Given the description of an element on the screen output the (x, y) to click on. 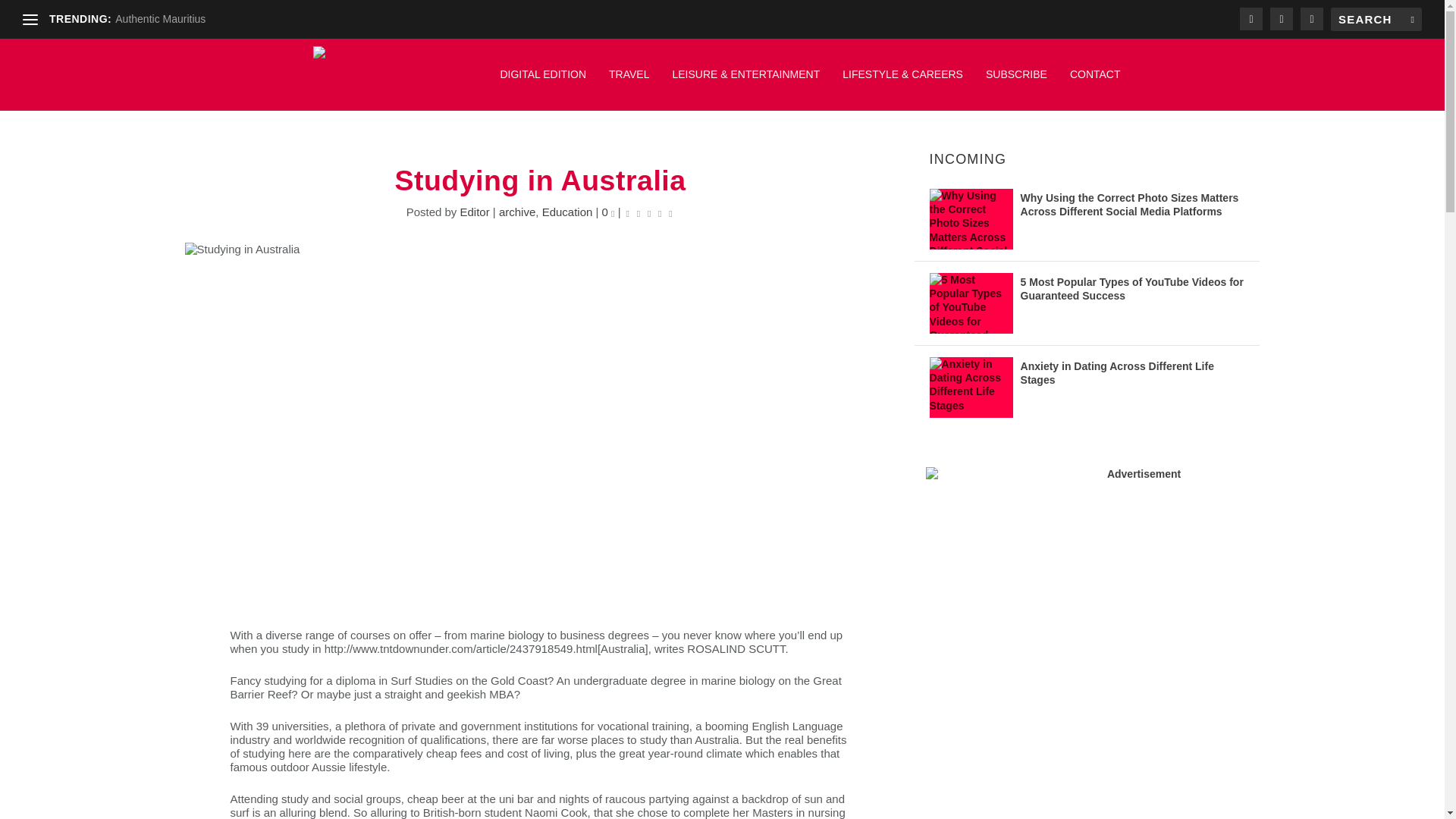
Rating: 0.00 (649, 212)
Education (566, 211)
Search for: (1376, 19)
Authentic Mauritius (160, 19)
DIGITAL EDITION (542, 82)
Editor (474, 211)
0 (608, 211)
Posts by Editor (474, 211)
SUBSCRIBE (1015, 82)
archive (517, 211)
